Given the description of an element on the screen output the (x, y) to click on. 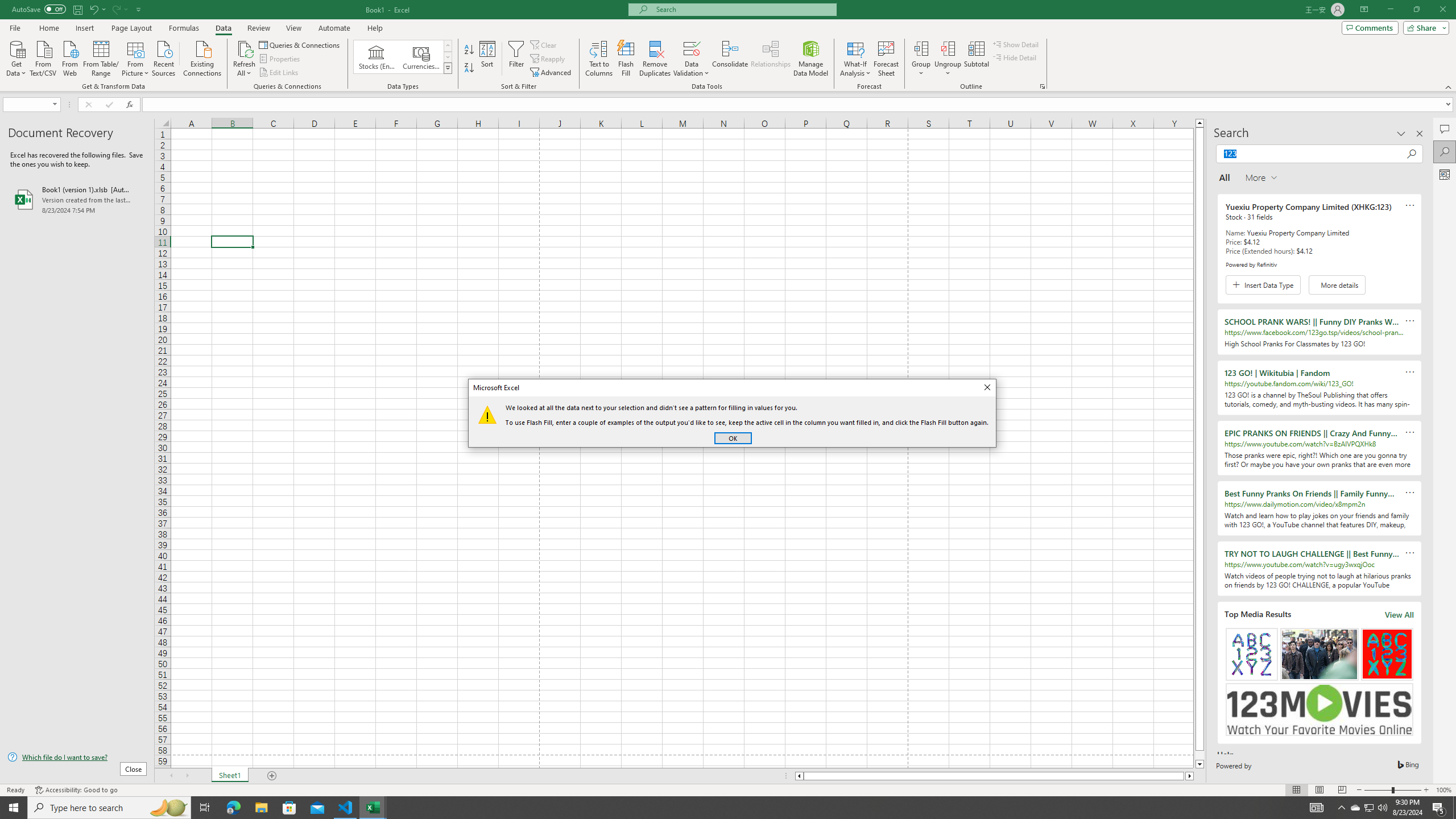
Show desktop (1454, 807)
Microsoft Edge (233, 807)
